Given the description of an element on the screen output the (x, y) to click on. 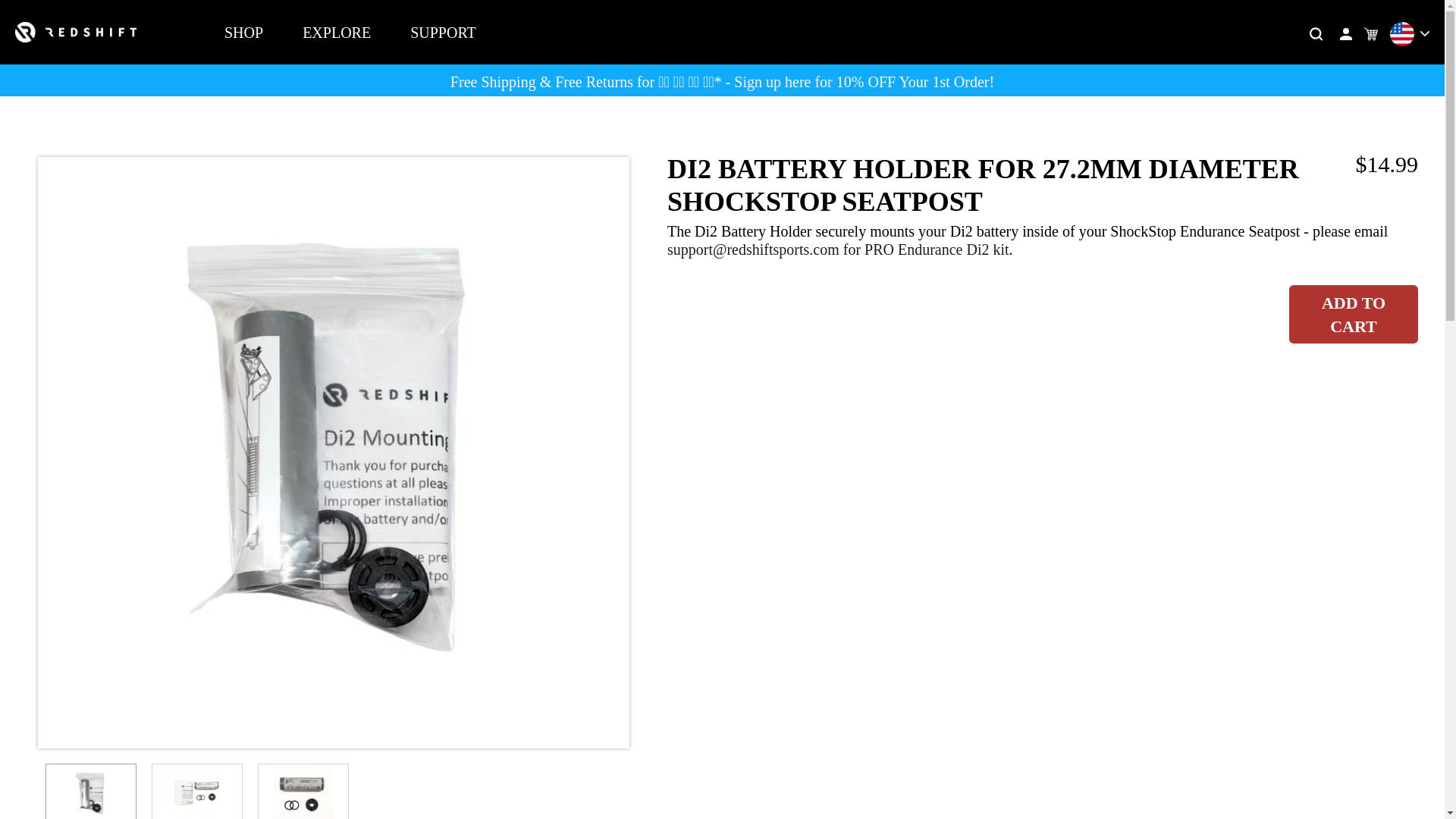
Help widget launcher (1368, 781)
